Given the description of an element on the screen output the (x, y) to click on. 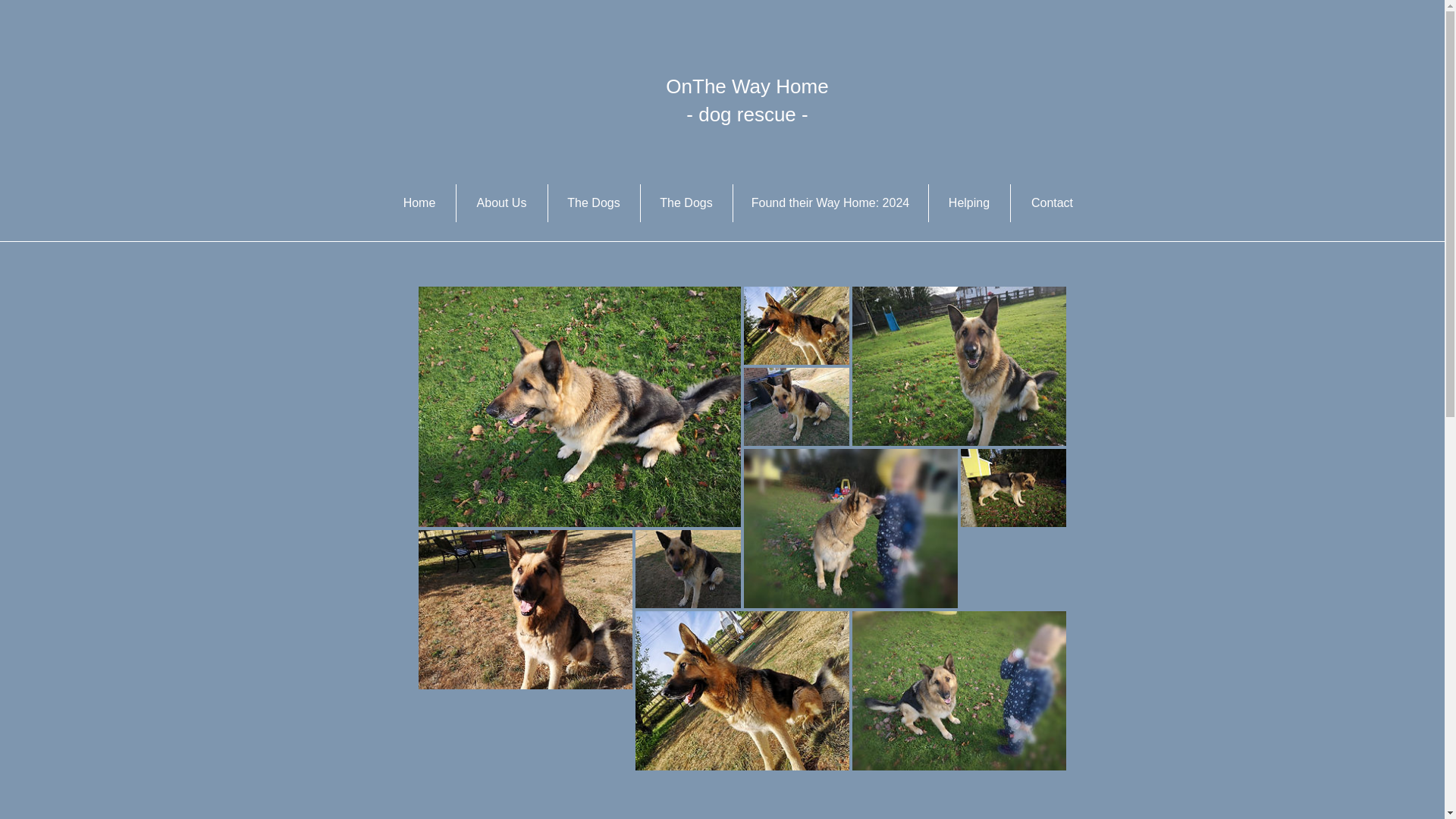
Home (419, 202)
OnThe Way Home (746, 86)
- dog rescue - (746, 114)
The Dogs (686, 202)
About Us (502, 202)
The Dogs (593, 202)
